Given the description of an element on the screen output the (x, y) to click on. 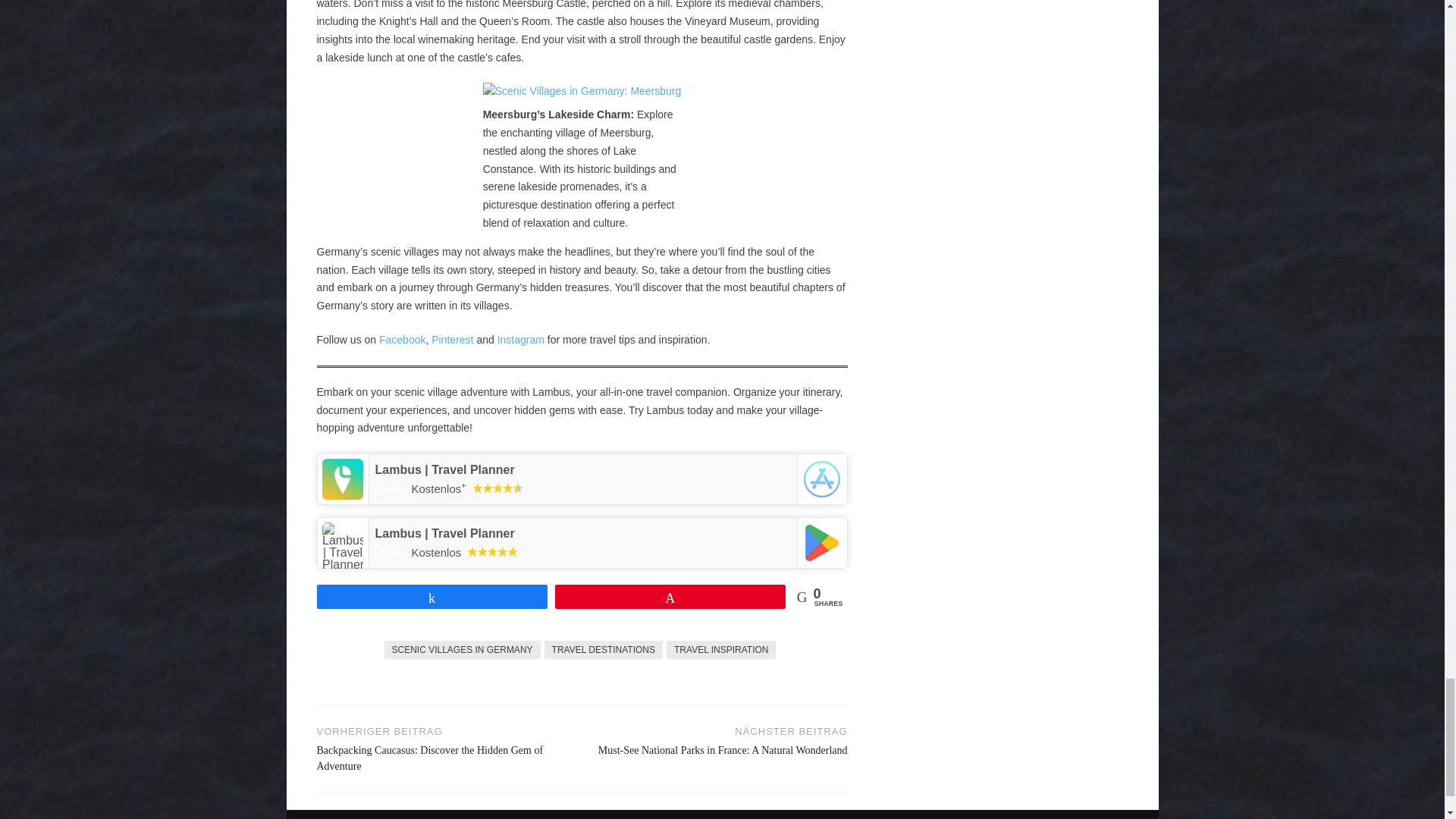
Pinterest (451, 339)
Facebook (401, 339)
TRAVEL INSPIRATION (721, 649)
SCENIC VILLAGES IN GERMANY (462, 649)
5 von 5 Sternen (491, 551)
4.7 von 5 Sternen (497, 488)
Instagram (520, 339)
TRAVEL DESTINATIONS (603, 649)
